Given the description of an element on the screen output the (x, y) to click on. 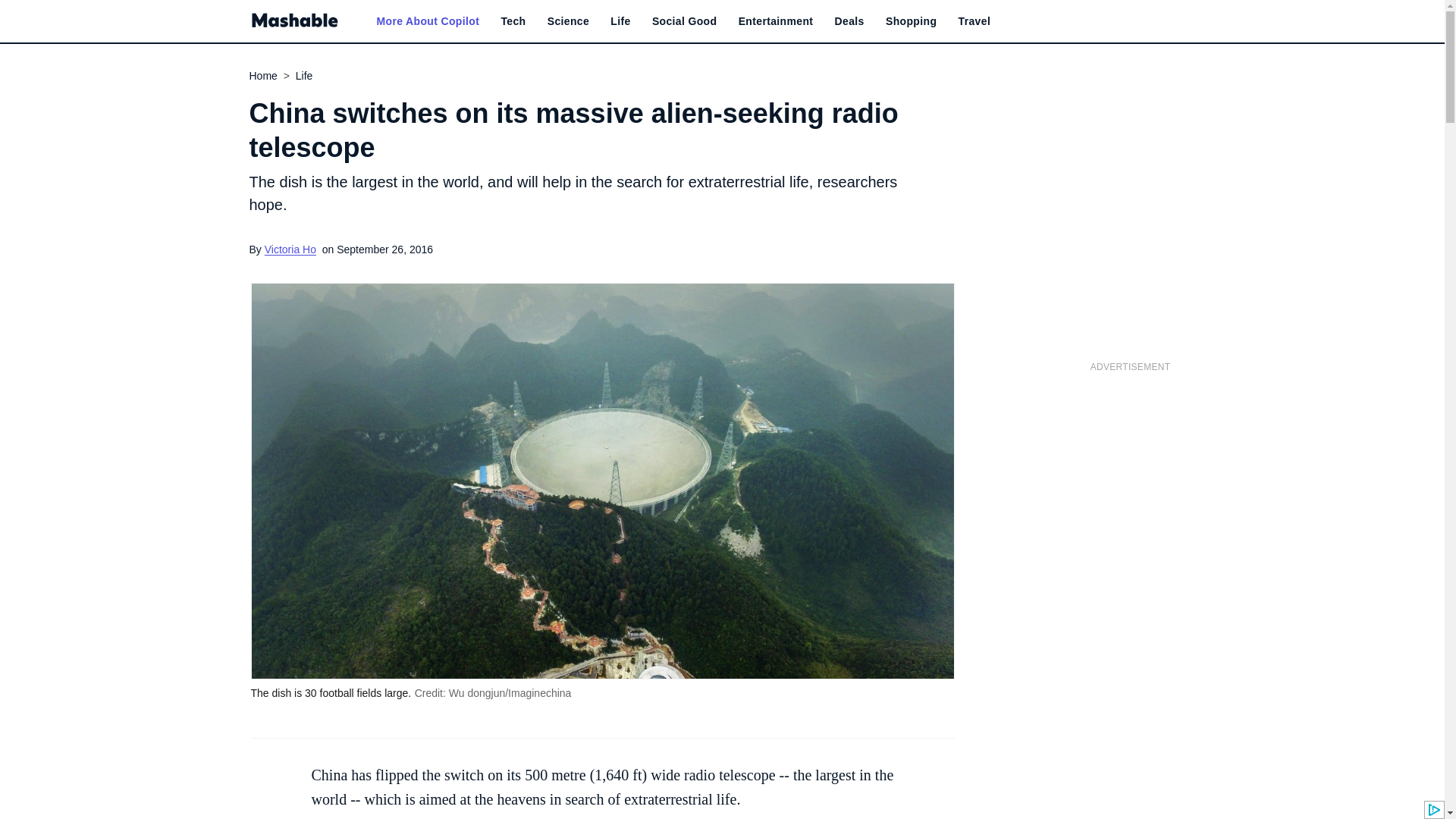
Entertainment (775, 21)
Travel (974, 21)
Social Good (684, 21)
Deals (849, 21)
Shopping (910, 21)
Life (620, 21)
More About Copilot (427, 21)
Tech (512, 21)
Science (568, 21)
